Given the description of an element on the screen output the (x, y) to click on. 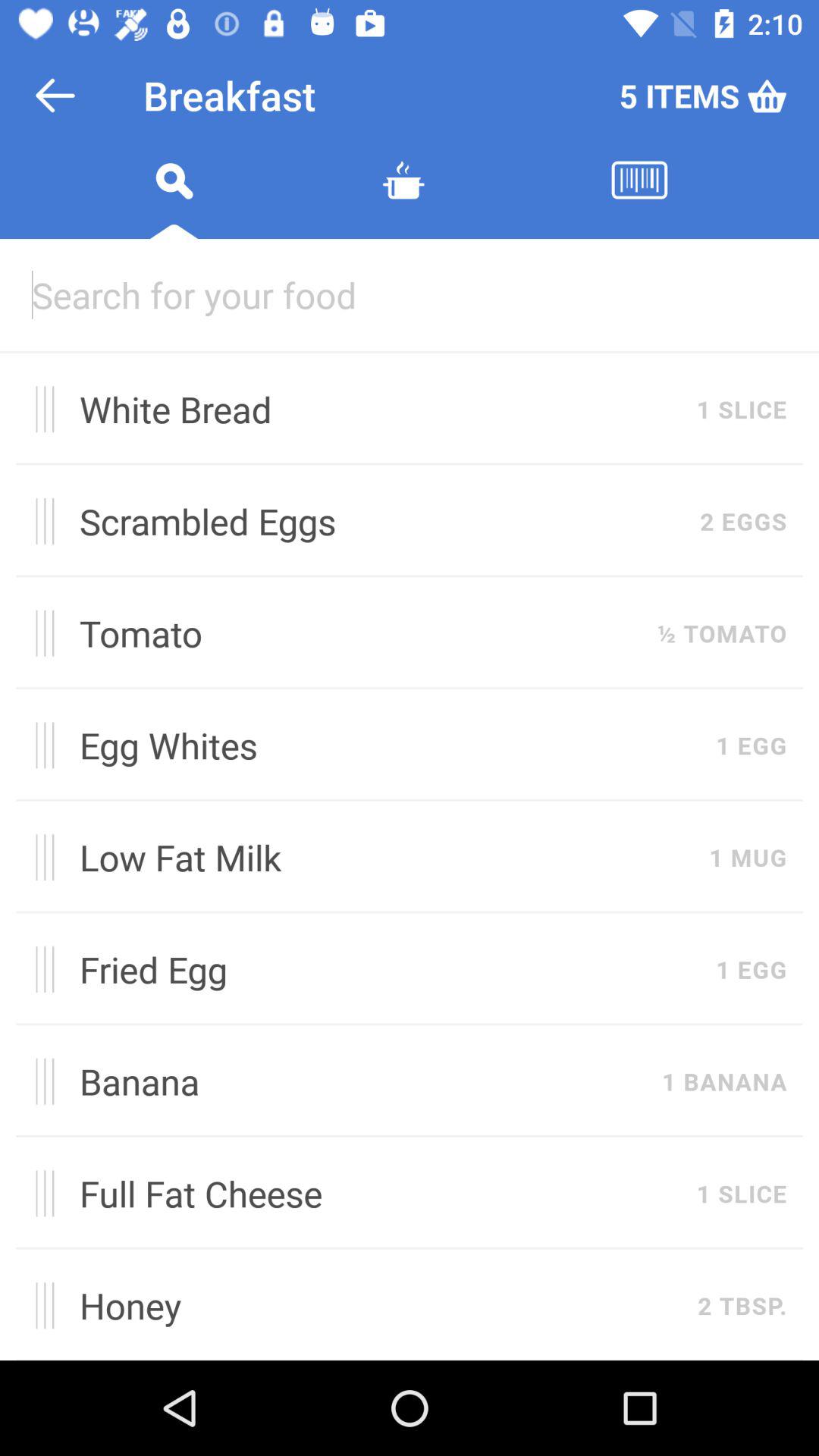
jump until the 1 banana (724, 1081)
